Given the description of an element on the screen output the (x, y) to click on. 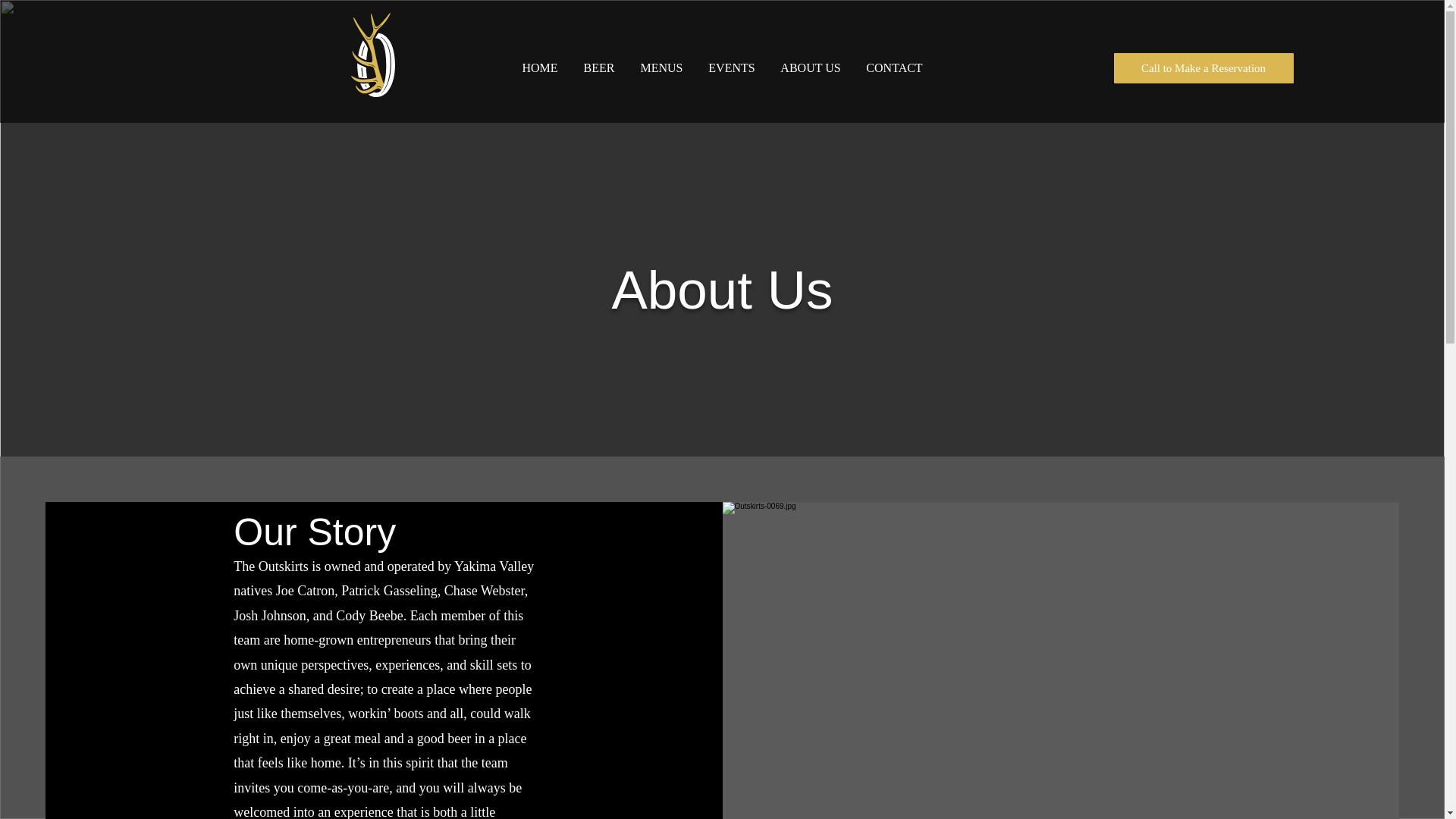
MENUS (661, 67)
EVENTS (731, 67)
ABOUT US (810, 67)
HOME (539, 67)
Call to Make a Reservation (1202, 68)
CONTACT (894, 67)
BEER (598, 67)
